Given the description of an element on the screen output the (x, y) to click on. 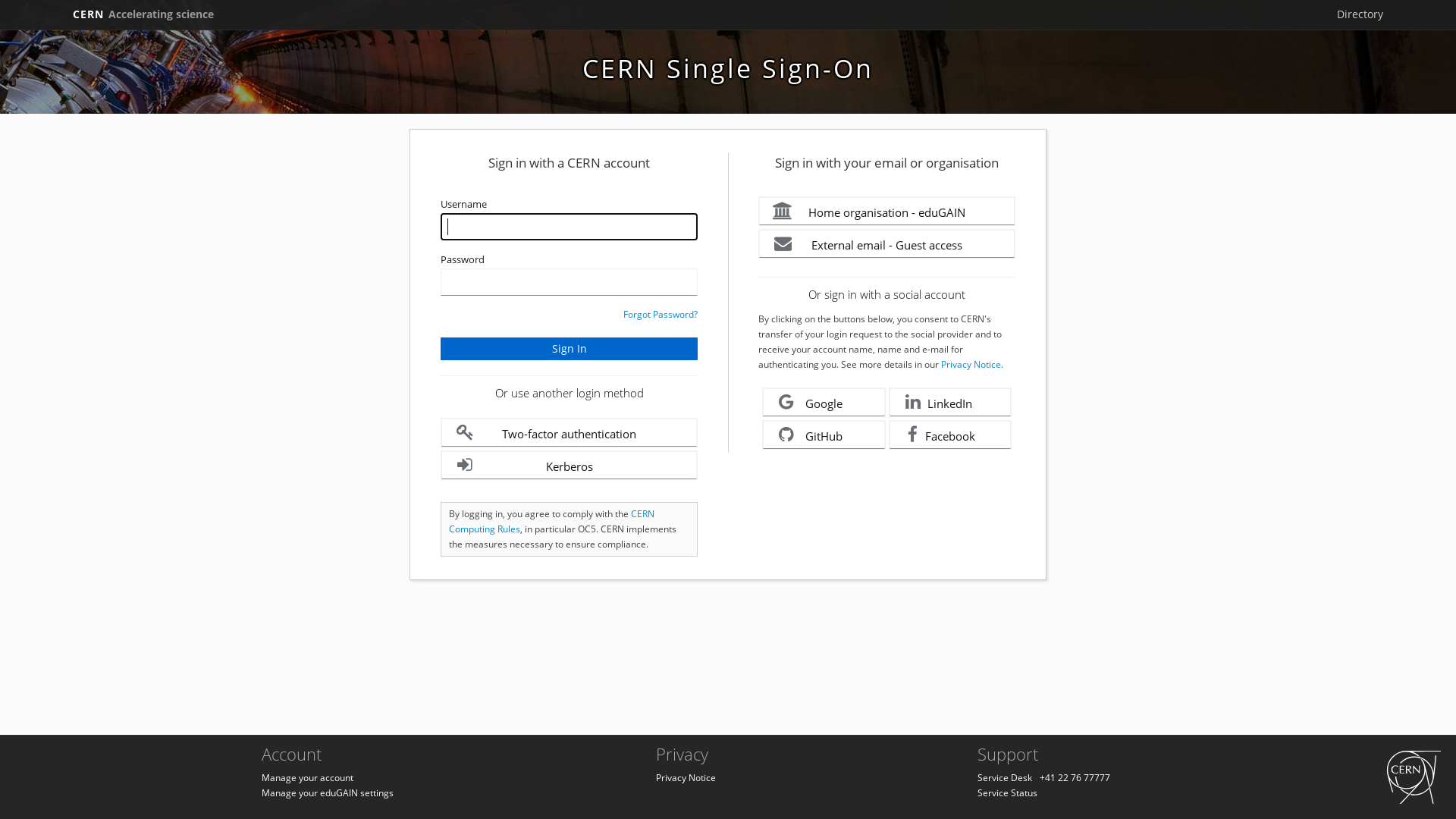
LinkedIn Element type: text (950, 402)
Privacy Notice Element type: text (971, 363)
CERN Computing Rules Element type: text (551, 521)
GitHub Element type: text (823, 434)
Manage your eduGAIN settings Element type: text (327, 792)
Manage your account Element type: text (307, 777)
Forgot Password? Element type: text (660, 313)
Facebook Element type: text (950, 434)
Kerberos Element type: text (568, 465)
CERN Accelerating science Element type: text (142, 14)
External email - Guest access Element type: text (886, 243)
Service Status Element type: text (1007, 792)
+41 22 76 77777 Element type: text (1074, 777)
Google Element type: text (823, 402)
Sign In Element type: text (568, 348)
Two-factor authentication Element type: text (568, 432)
Home organisation - eduGAIN Element type: text (886, 210)
Directory Element type: text (1359, 14)
Privacy Notice Element type: text (685, 777)
Service Desk Element type: text (1004, 777)
